Given the description of an element on the screen output the (x, y) to click on. 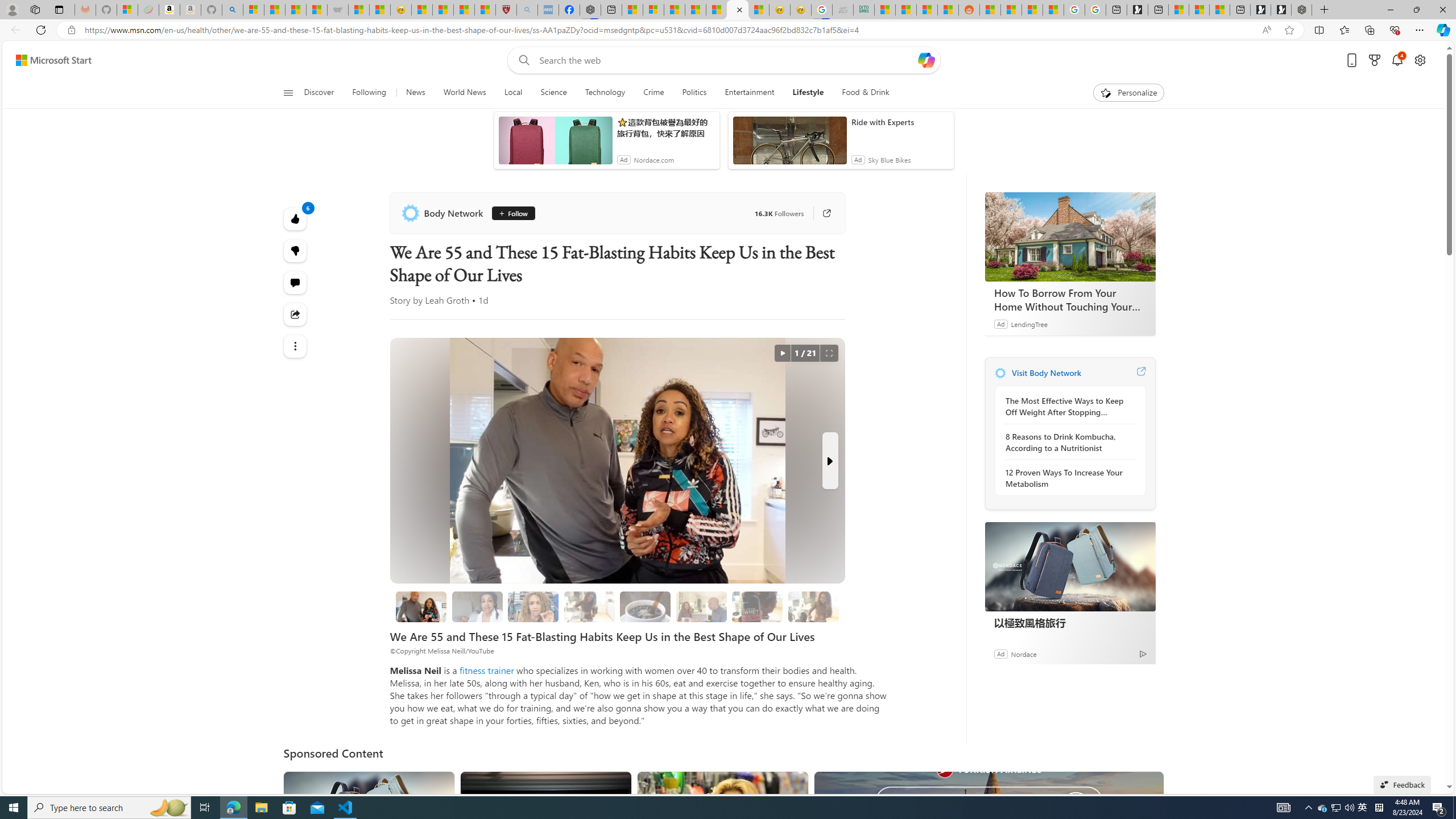
1 We Eat a Protein-Packed Pre-Workout Snack (477, 606)
Visit Body Network website (1140, 372)
Share this story (295, 314)
LendingTree (1029, 323)
